Given the description of an element on the screen output the (x, y) to click on. 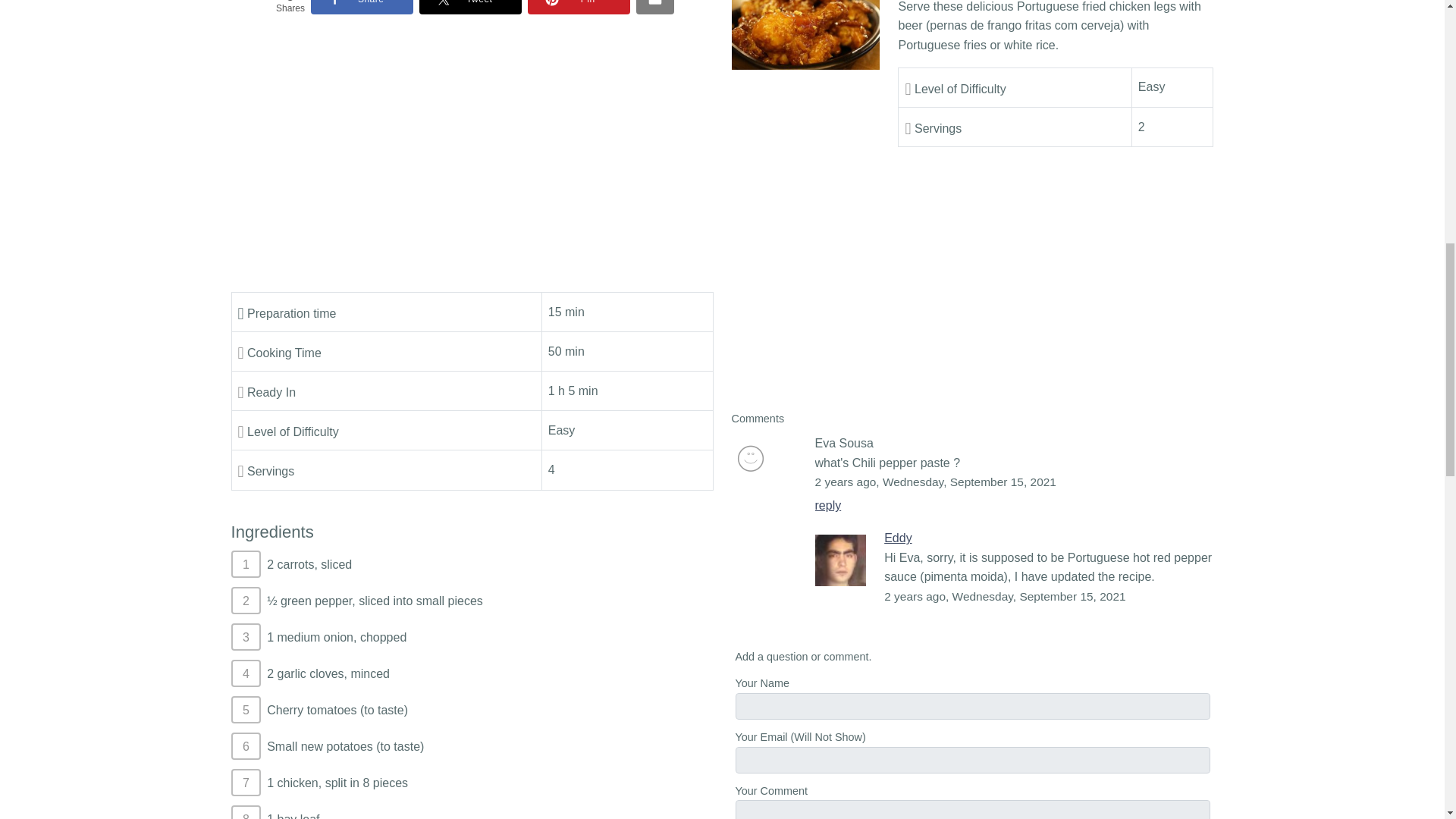
Eva Sousa (749, 458)
Advertisement (471, 158)
Eddy (839, 560)
Eddy (897, 537)
reply (827, 504)
Portuguese Chicken Legs with Beer (804, 34)
